Given the description of an element on the screen output the (x, y) to click on. 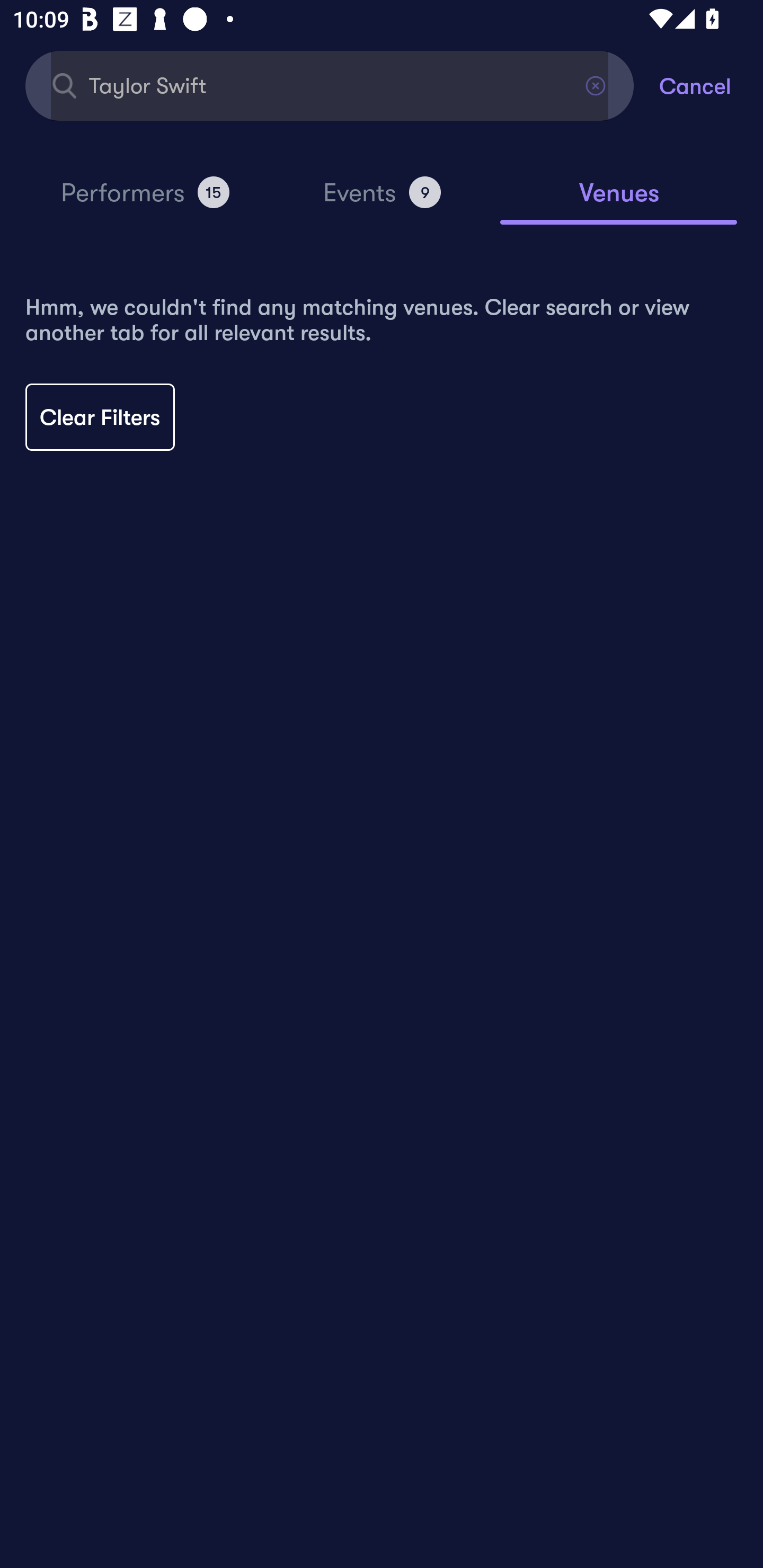
Taylor Swift Find (329, 85)
Taylor Swift Find (329, 85)
Cancel (711, 85)
Performers 15 (144, 200)
Events 9 (381, 200)
Venues (618, 201)
Clear Filters (99, 417)
